Given the description of an element on the screen output the (x, y) to click on. 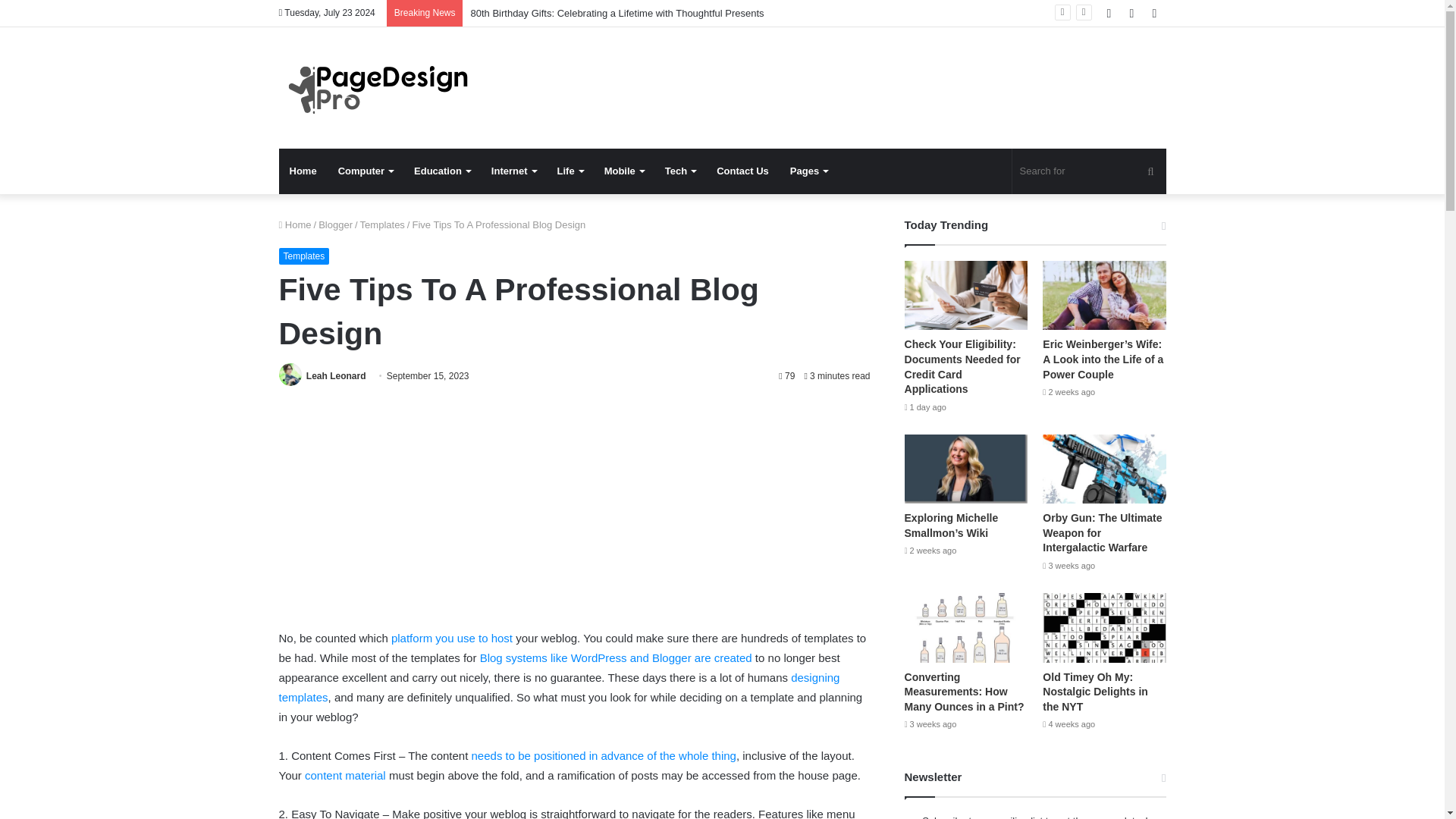
Life (570, 171)
Random Article (1131, 13)
Education (441, 171)
Home (303, 171)
Random Article (1131, 13)
Mobile (623, 171)
Leah Leonard (335, 376)
Advertisement (574, 514)
Log In (1109, 13)
Page Design Pro (385, 87)
Sidebar (1154, 13)
Search for (1088, 171)
Computer (365, 171)
Internet (513, 171)
